Given the description of an element on the screen output the (x, y) to click on. 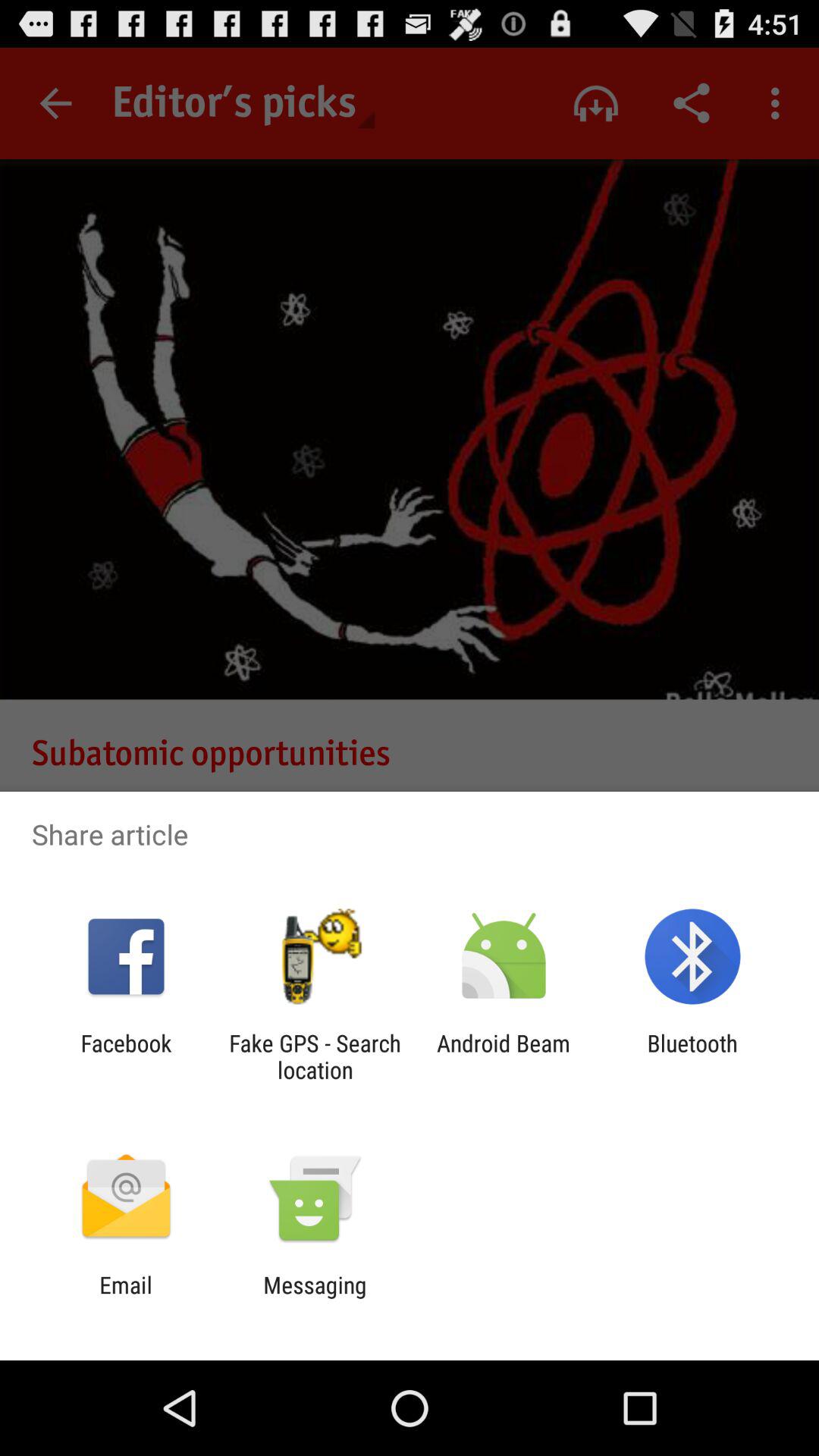
tap item next to the fake gps search item (503, 1056)
